Given the description of an element on the screen output the (x, y) to click on. 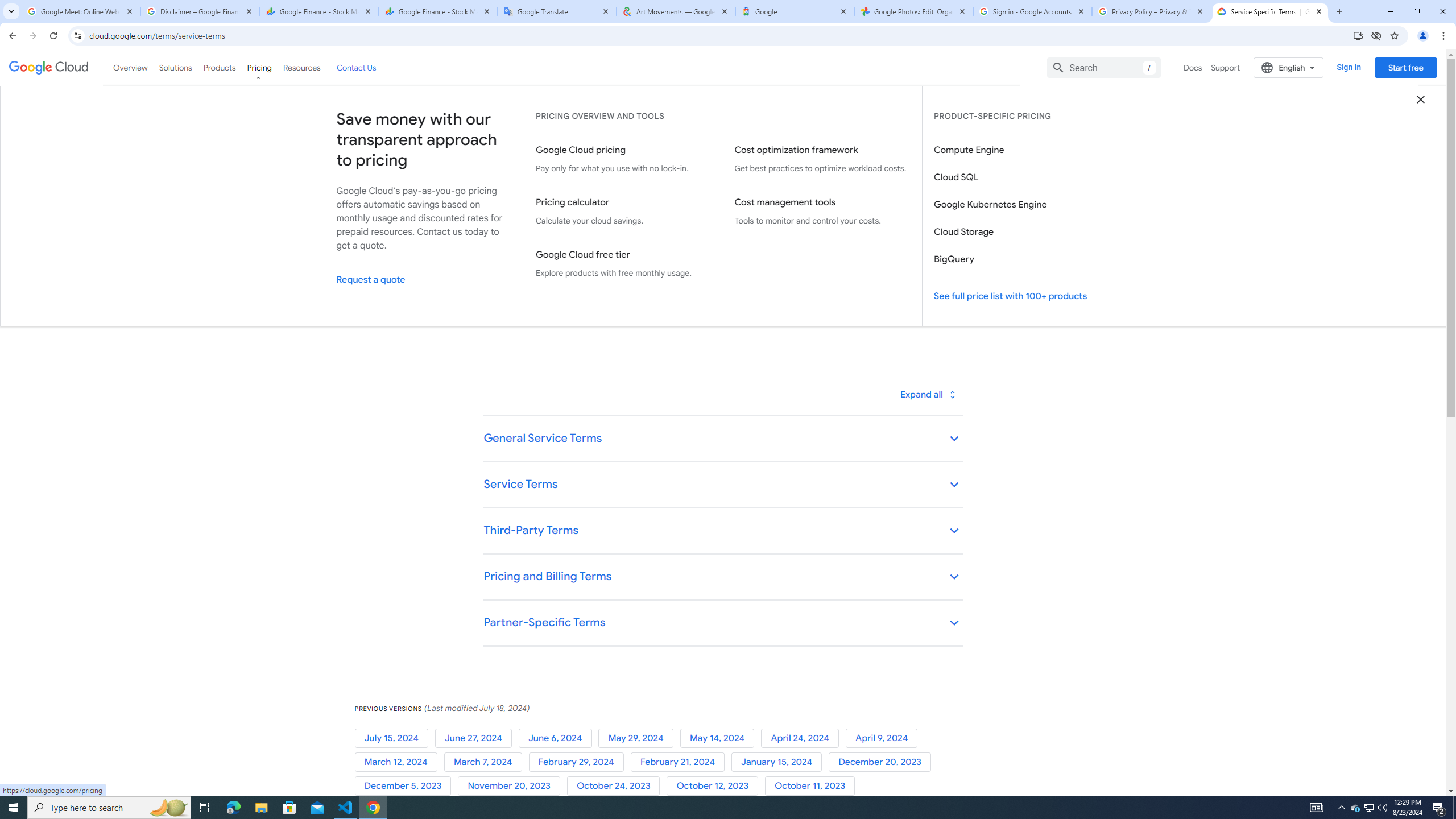
Sign in - Google Accounts (1032, 11)
October 11, 2023 (812, 786)
Pricing calculator Calculate your cloud savings. (623, 211)
October 12, 2023 (715, 786)
Close dropdown menu (1420, 99)
May 14, 2024 (720, 737)
English (1288, 67)
Docs (1192, 67)
Solutions (175, 67)
